Given the description of an element on the screen output the (x, y) to click on. 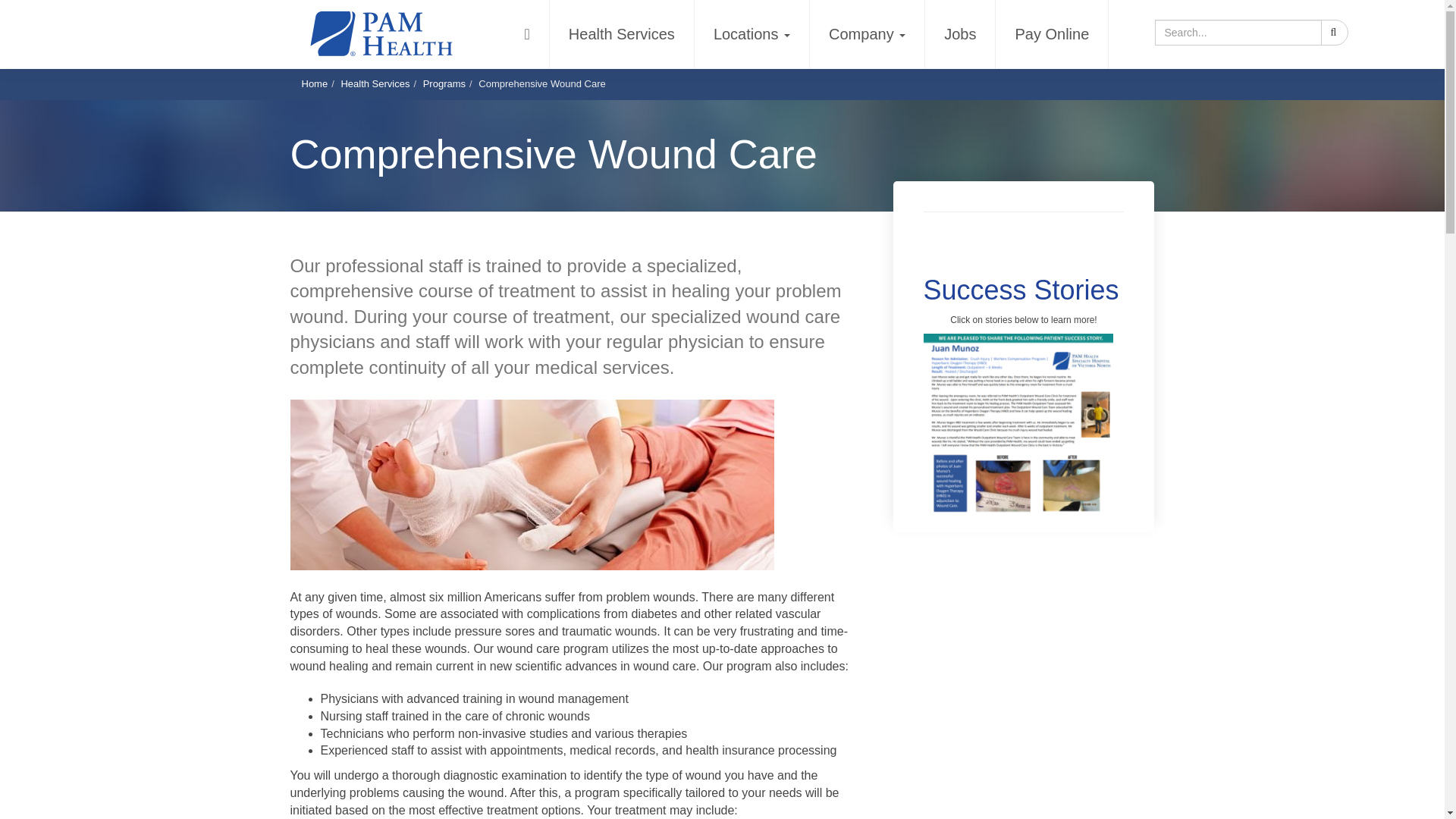
Programs (444, 83)
Home (315, 83)
Locations (751, 33)
Jobs (959, 33)
Health Services (374, 83)
Company (866, 33)
Click on photo to read Juan's story. (1018, 424)
Health Services (622, 33)
Pay Online (1051, 33)
